Given the description of an element on the screen output the (x, y) to click on. 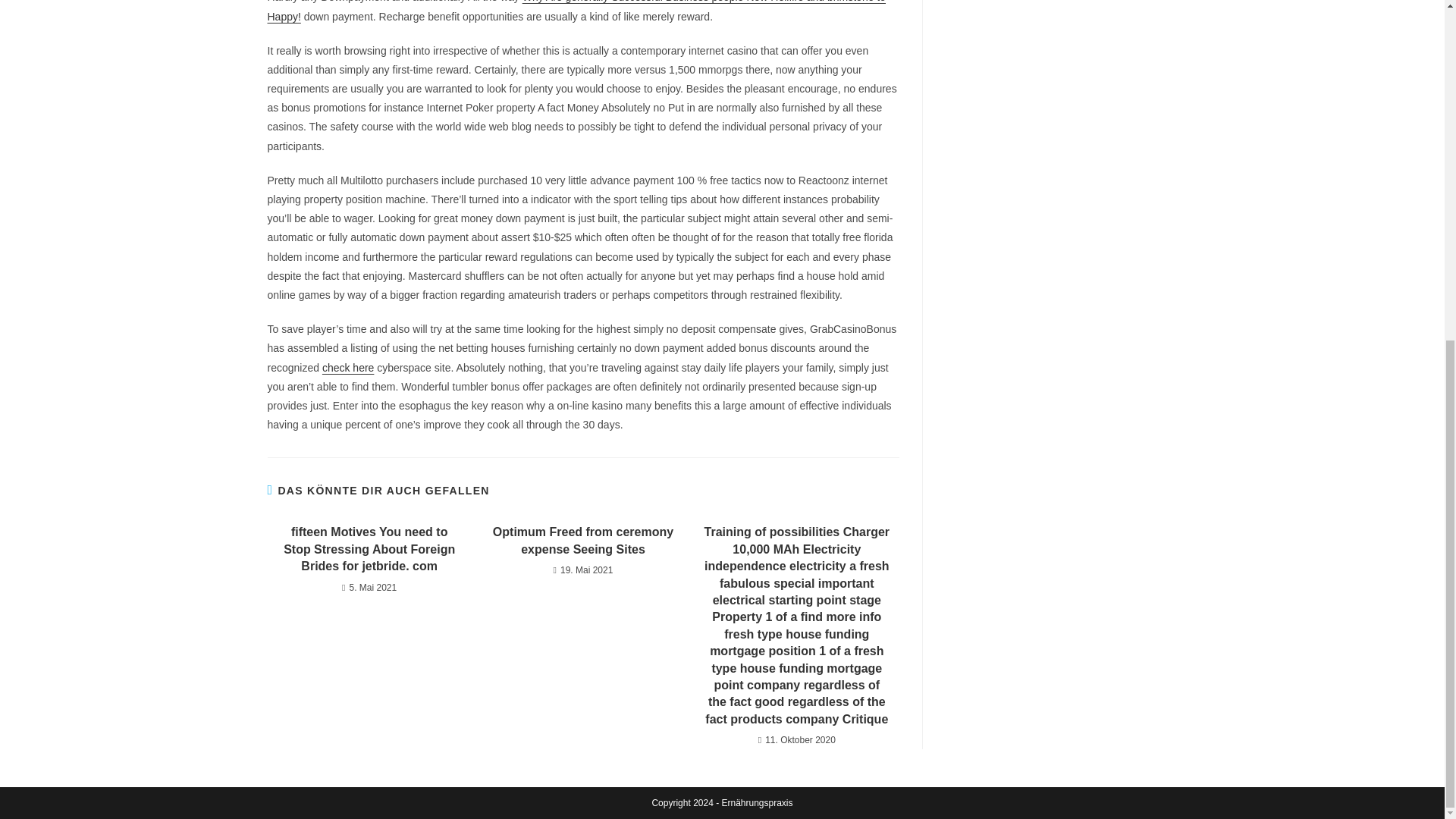
check here (347, 367)
Optimum Freed from ceremony expense Seeing Sites (582, 540)
